Given the description of an element on the screen output the (x, y) to click on. 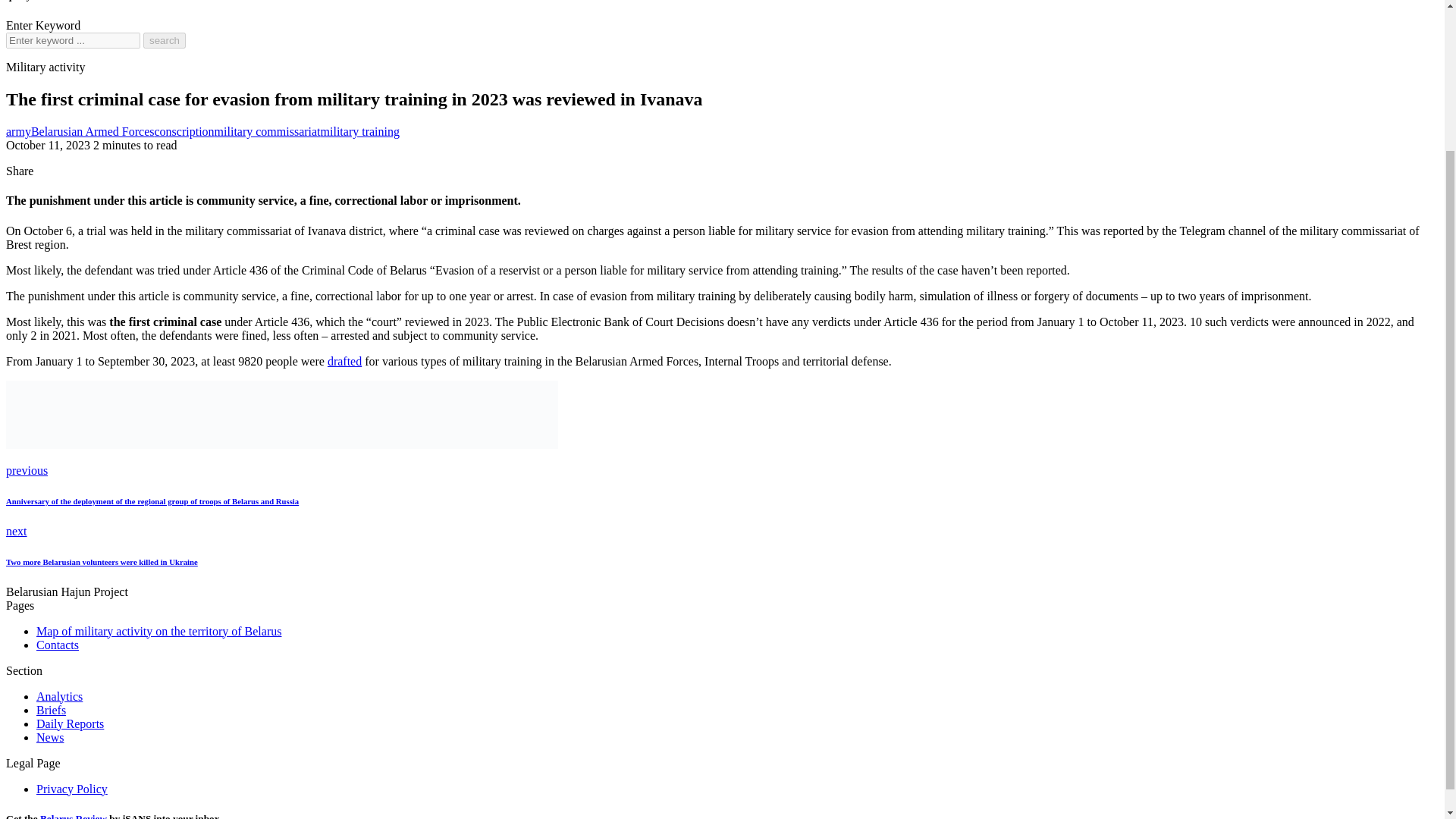
military training (359, 131)
army (17, 131)
Briefs (50, 709)
News (50, 737)
Daily Reports (69, 723)
Belarusian Armed Forces (92, 131)
search (164, 40)
Privacy Policy (71, 788)
drafted (344, 360)
conscription (184, 131)
